Given the description of an element on the screen output the (x, y) to click on. 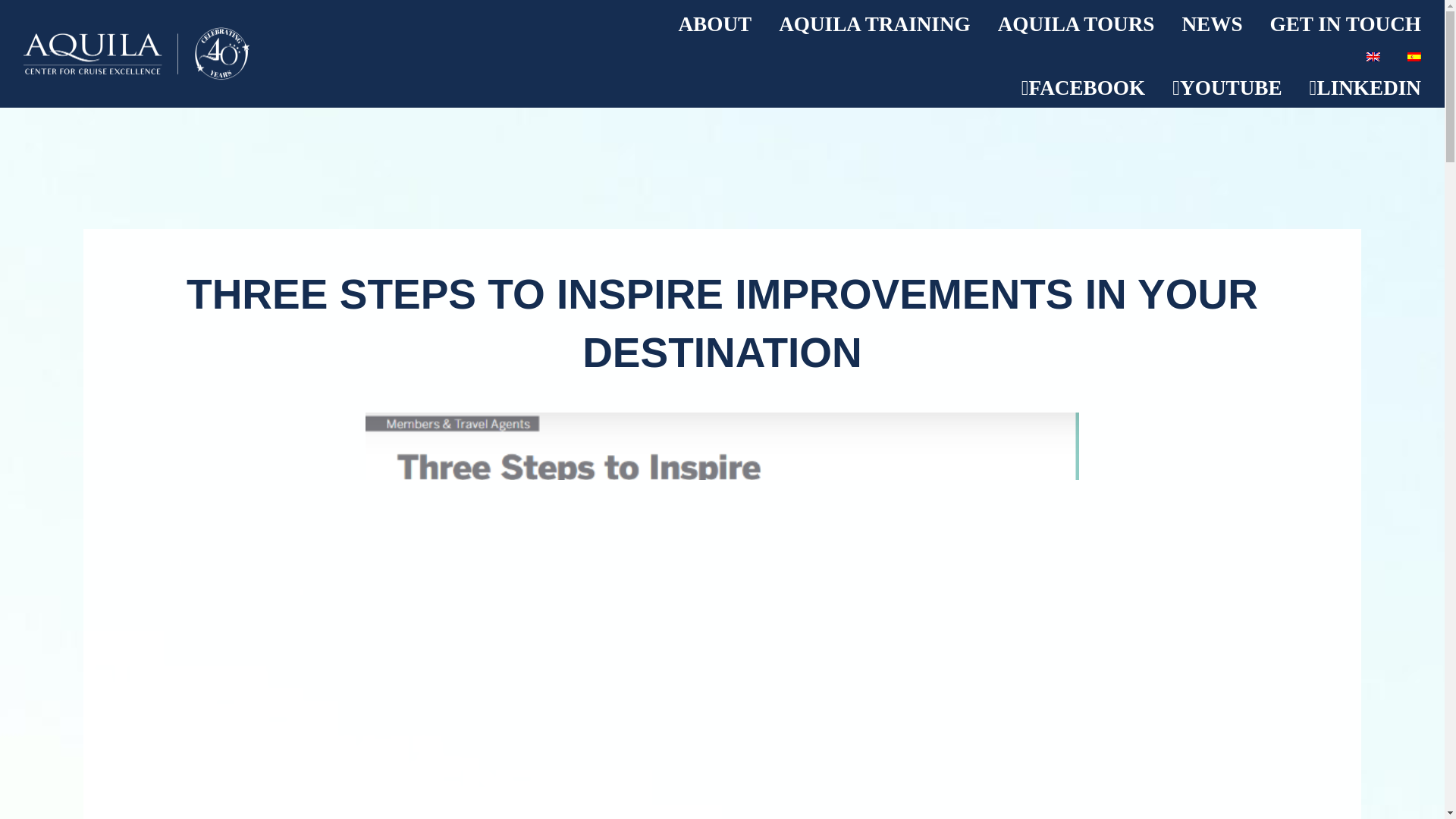
ABOUT (713, 24)
FACEBOOK (1083, 88)
Destination Training Excellence (248, 54)
AQUILA TRAINING (874, 24)
AQUILA TOURS (1076, 24)
NEWS (1211, 24)
GET IN TOUCH (1344, 24)
YOUTUBE (1227, 88)
LINKEDIN (1364, 88)
